Given the description of an element on the screen output the (x, y) to click on. 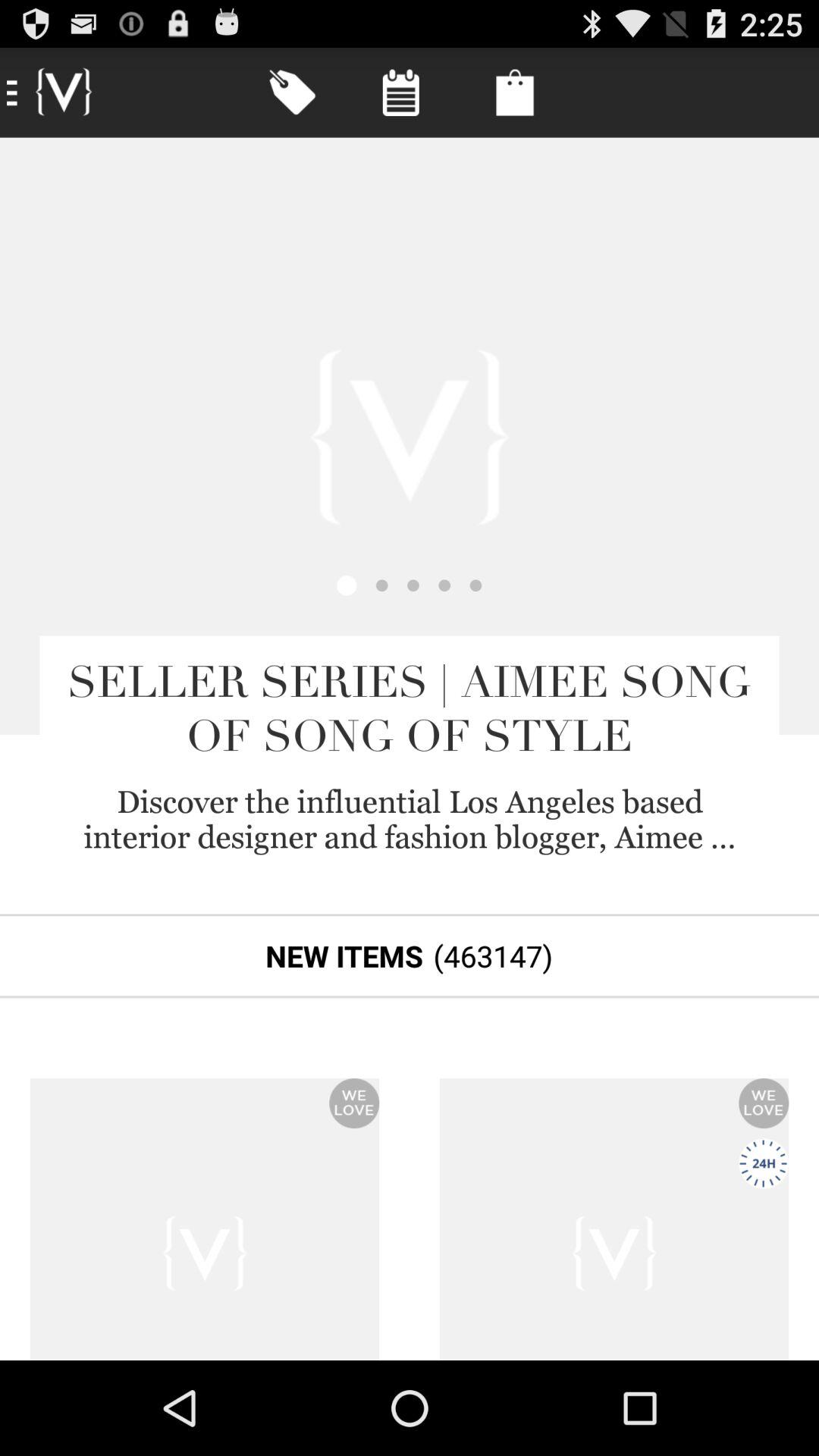
select the second image which is above the navigationa bar (613, 1218)
